Given the description of an element on the screen output the (x, y) to click on. 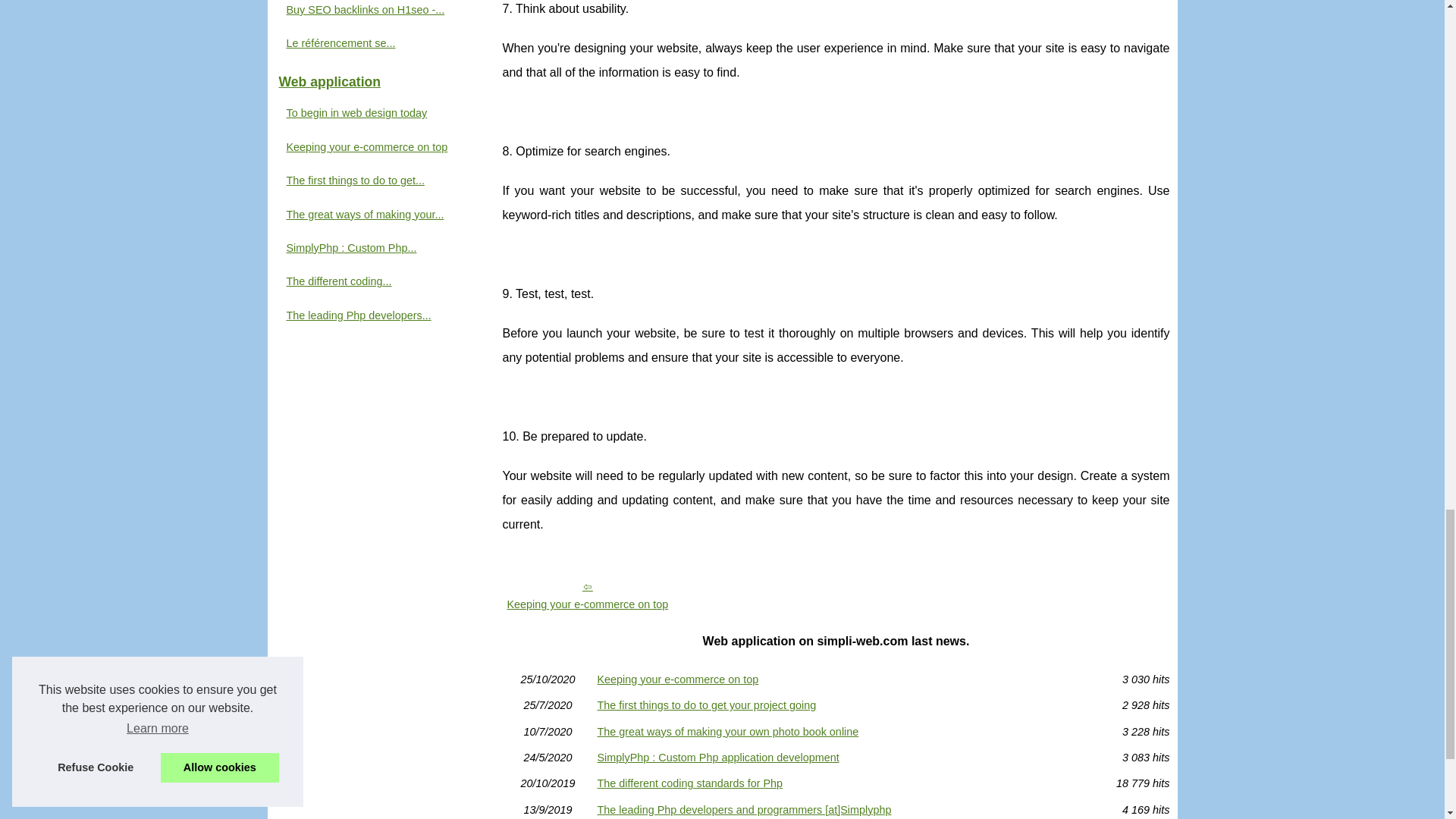
Keeping your e-commerce on top (835, 679)
The different coding standards for Php (835, 783)
The first things to do to get your project going (835, 705)
SimplyPhp : Custom Php application development (835, 757)
The first things to do to get your project going (835, 705)
Keeping your e-commerce on top (587, 595)
Keeping your e-commerce on top (587, 595)
Keeping your e-commerce on top (835, 679)
The different coding standards for Php (835, 783)
SimplyPhp : Custom Php application development (835, 757)
The great ways of making your own photo book online (835, 731)
The great ways of making your own photo book online (835, 731)
